Given the description of an element on the screen output the (x, y) to click on. 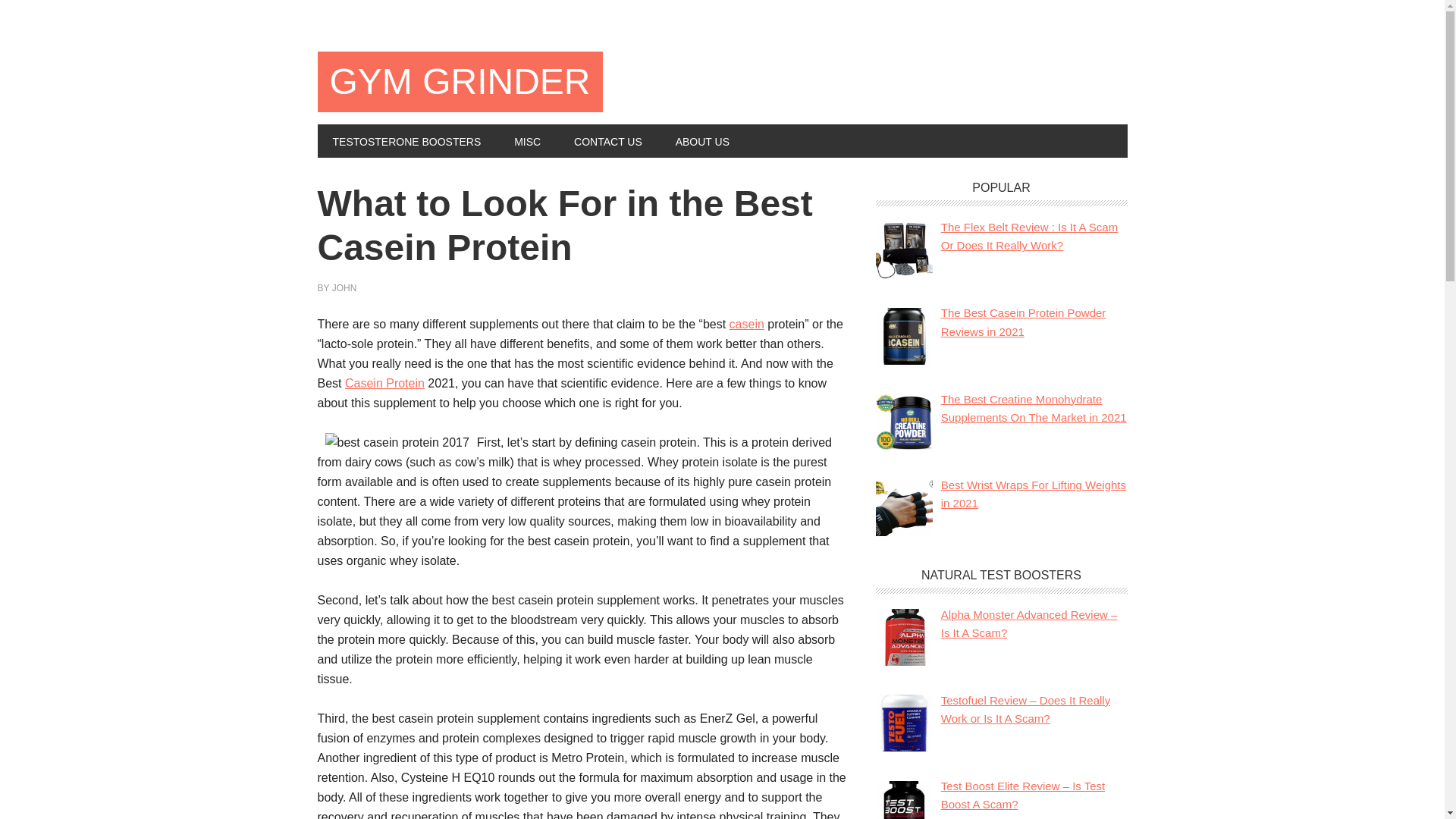
Casein Protein (385, 382)
Best Wrist Wraps For Lifting Weights in 2021 (1032, 493)
CONTACT US (608, 141)
The Best Casein Protein Powder Reviews in 2021 (1023, 321)
ABOUT US (702, 141)
The Flex Belt Review : Is It A Scam Or Does It Really Work? (1029, 235)
TESTOSTERONE BOOSTERS (406, 141)
GYM GRINDER (459, 81)
MISC (527, 141)
casein (746, 323)
JOHN (343, 287)
